Given the description of an element on the screen output the (x, y) to click on. 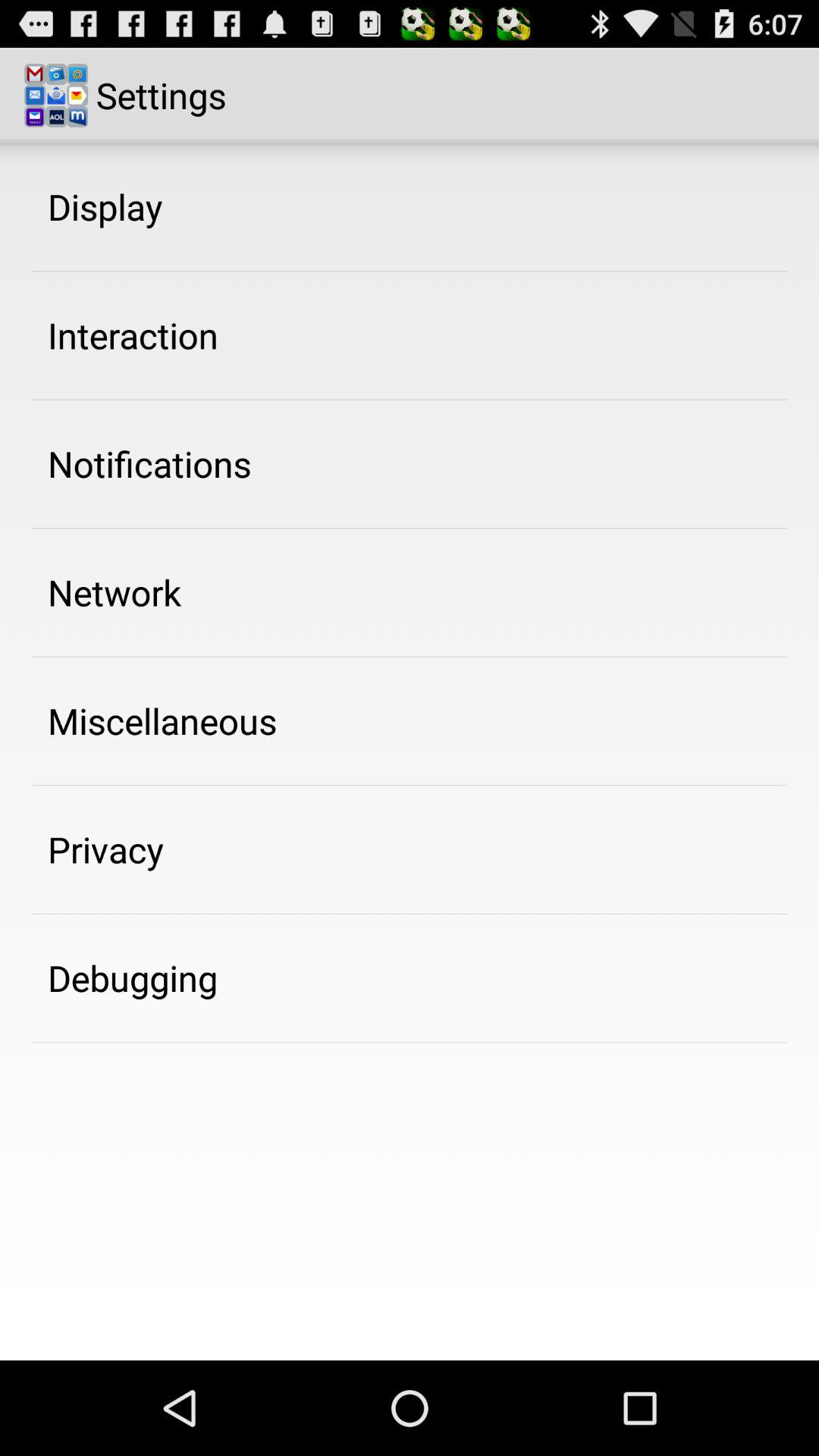
scroll to the miscellaneous icon (161, 720)
